Given the description of an element on the screen output the (x, y) to click on. 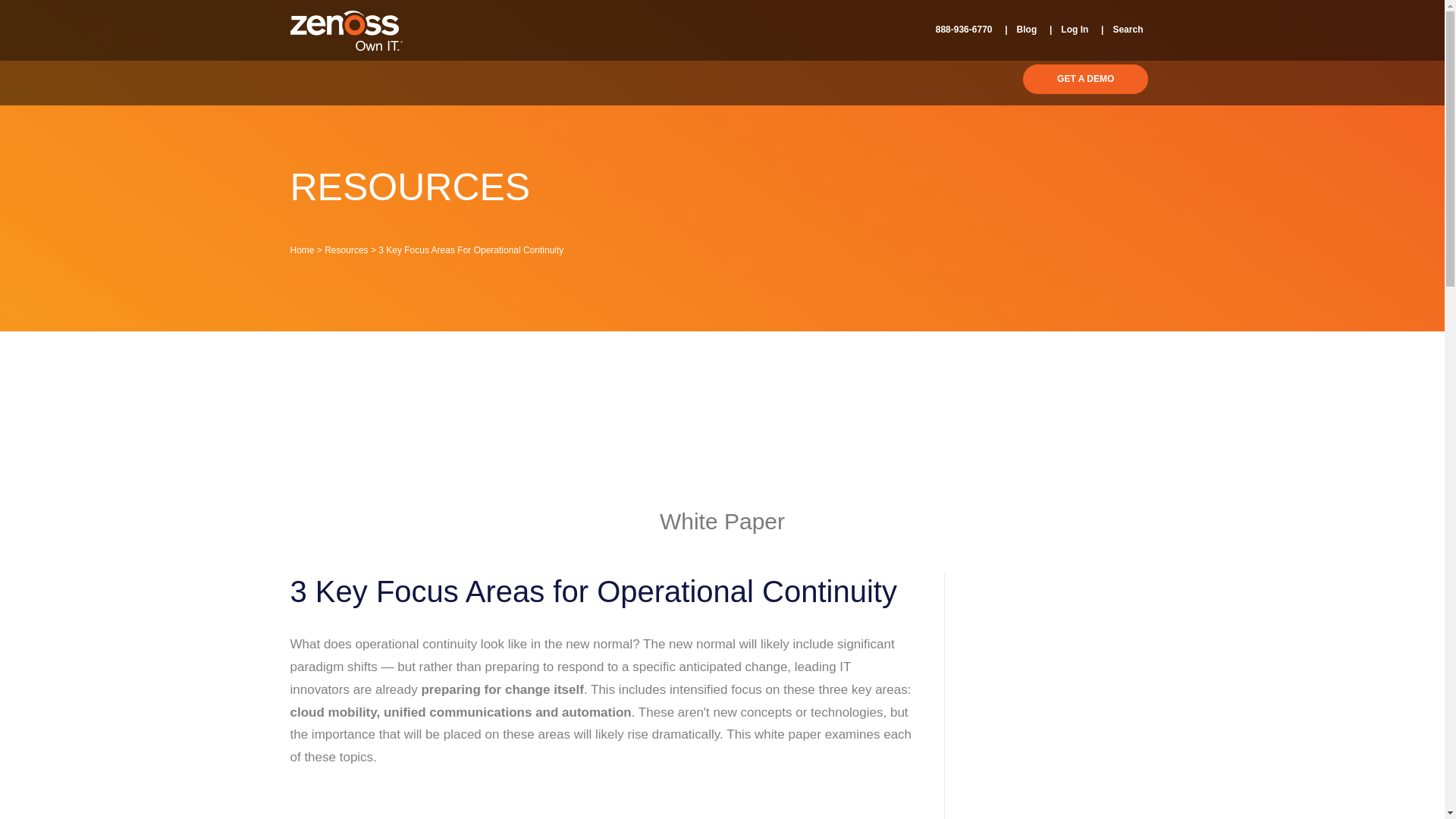
Search (1117, 29)
GET A DEMO (1085, 79)
Blog (1015, 29)
Log In (1064, 29)
